Given the description of an element on the screen output the (x, y) to click on. 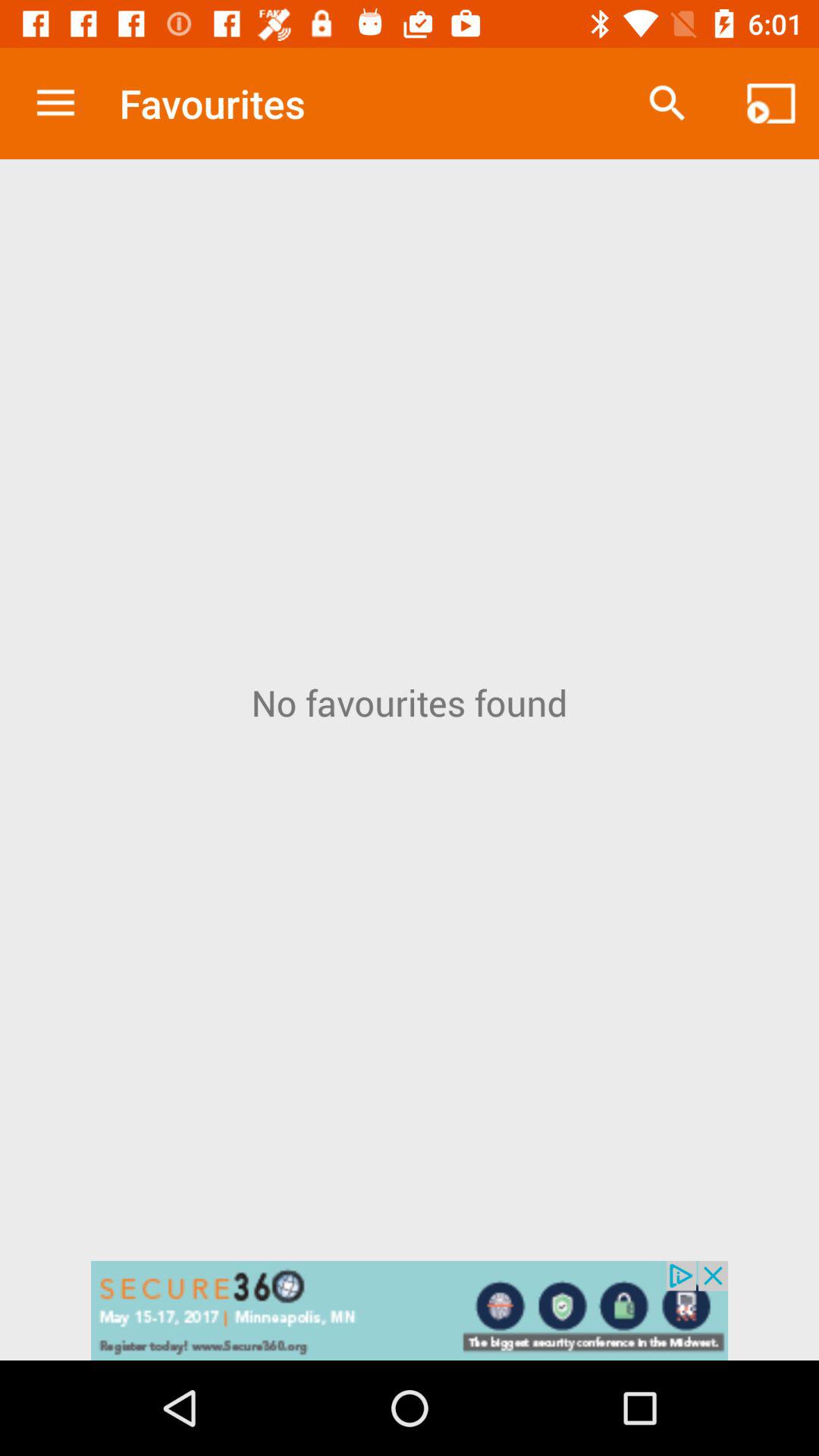
advertisement area (409, 1310)
